Given the description of an element on the screen output the (x, y) to click on. 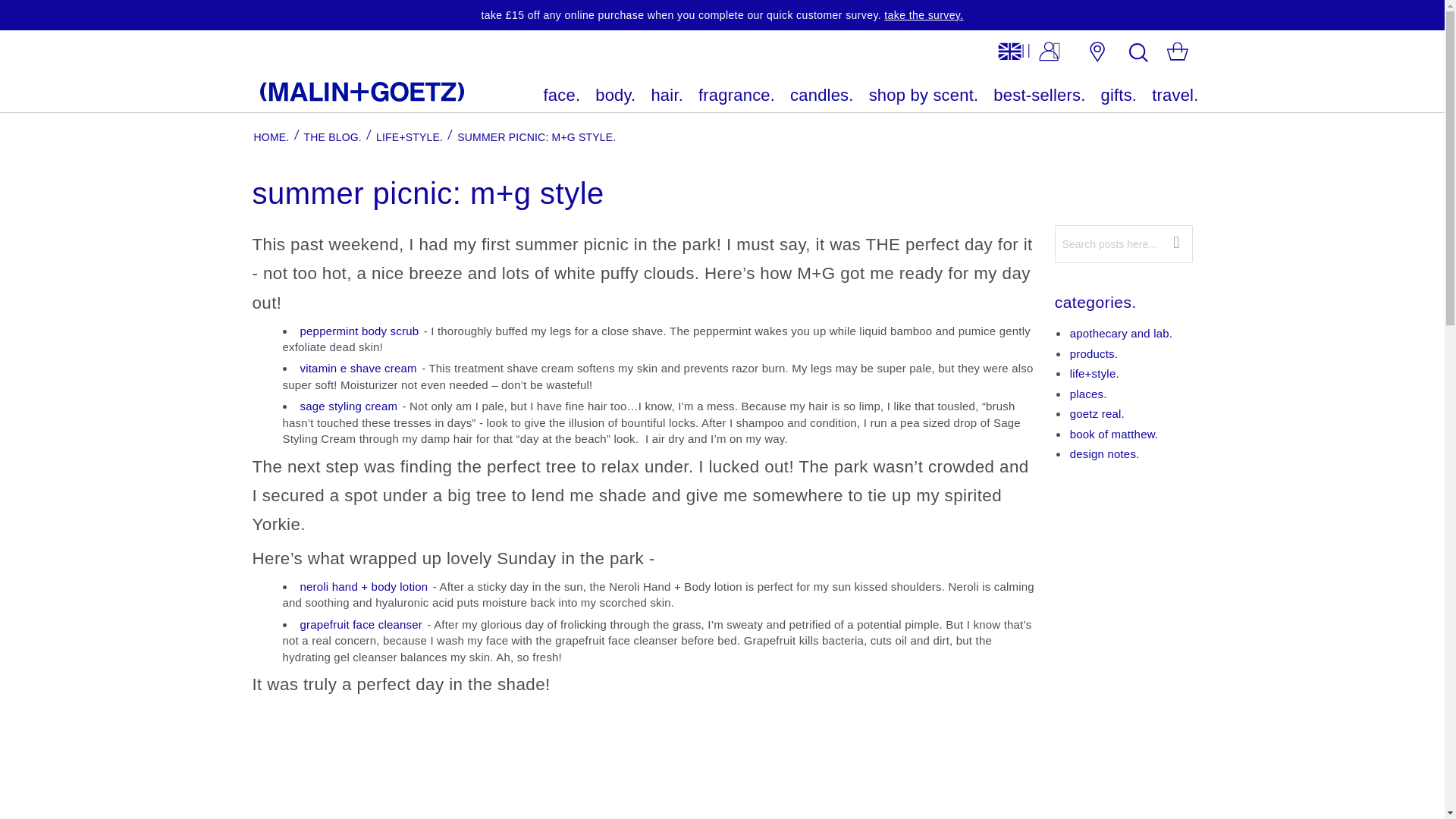
Go to Home Page (270, 136)
take the survey. (922, 15)
places. (1088, 393)
body. (615, 94)
book of matthew. (1114, 433)
the blog. (331, 136)
face. (561, 94)
goetz real. (1096, 413)
design notes.  (1104, 453)
My Bag (1177, 53)
